Given the description of an element on the screen output the (x, y) to click on. 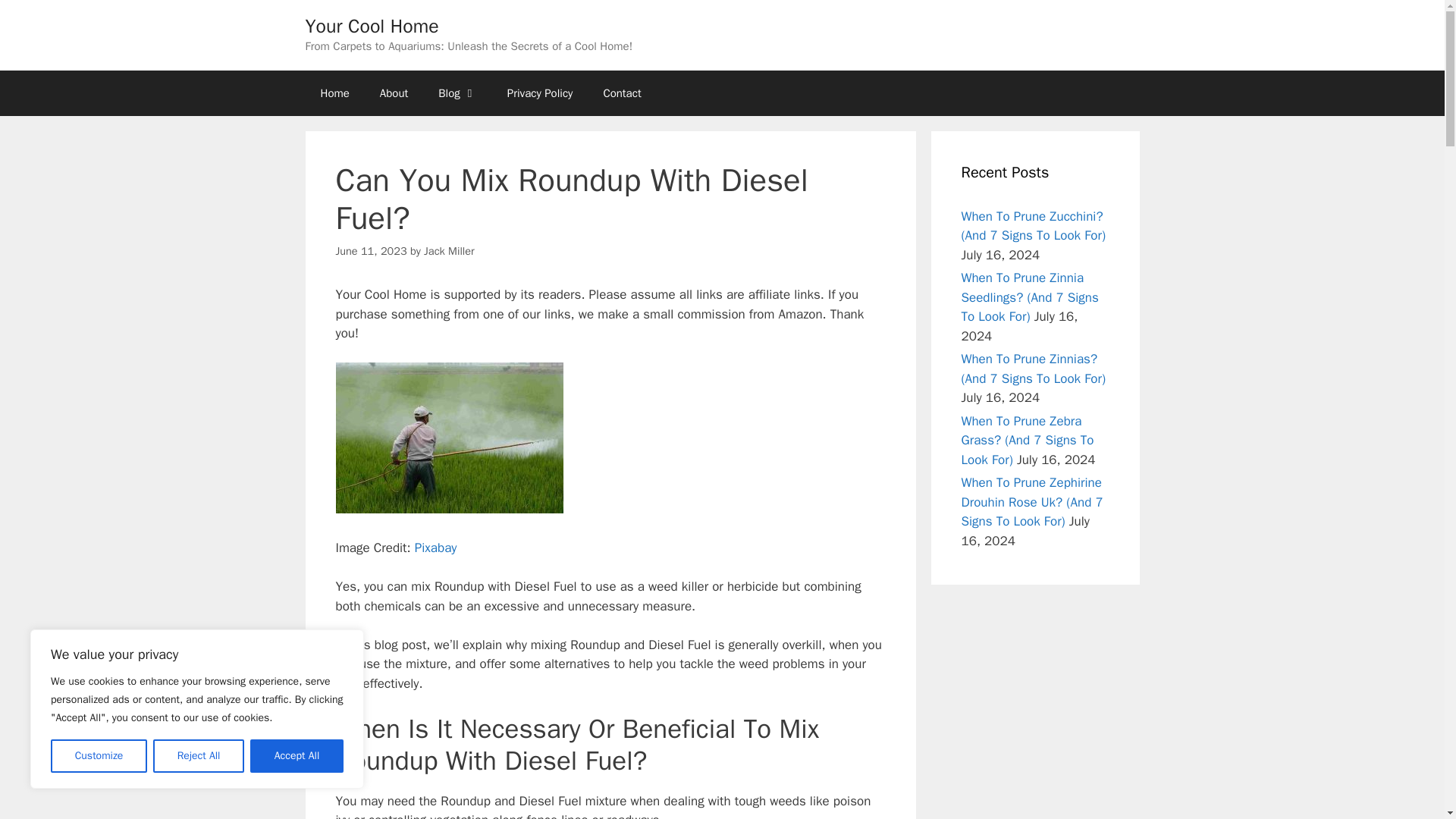
Reject All (198, 756)
About (394, 92)
Pixabay (435, 547)
Blog (457, 92)
Customize (98, 756)
Jack Miller (448, 250)
View all posts by Jack Miller (448, 250)
Privacy Policy (540, 92)
Home (334, 92)
Contact (622, 92)
Accept All (296, 756)
Your Cool Home (371, 25)
